Given the description of an element on the screen output the (x, y) to click on. 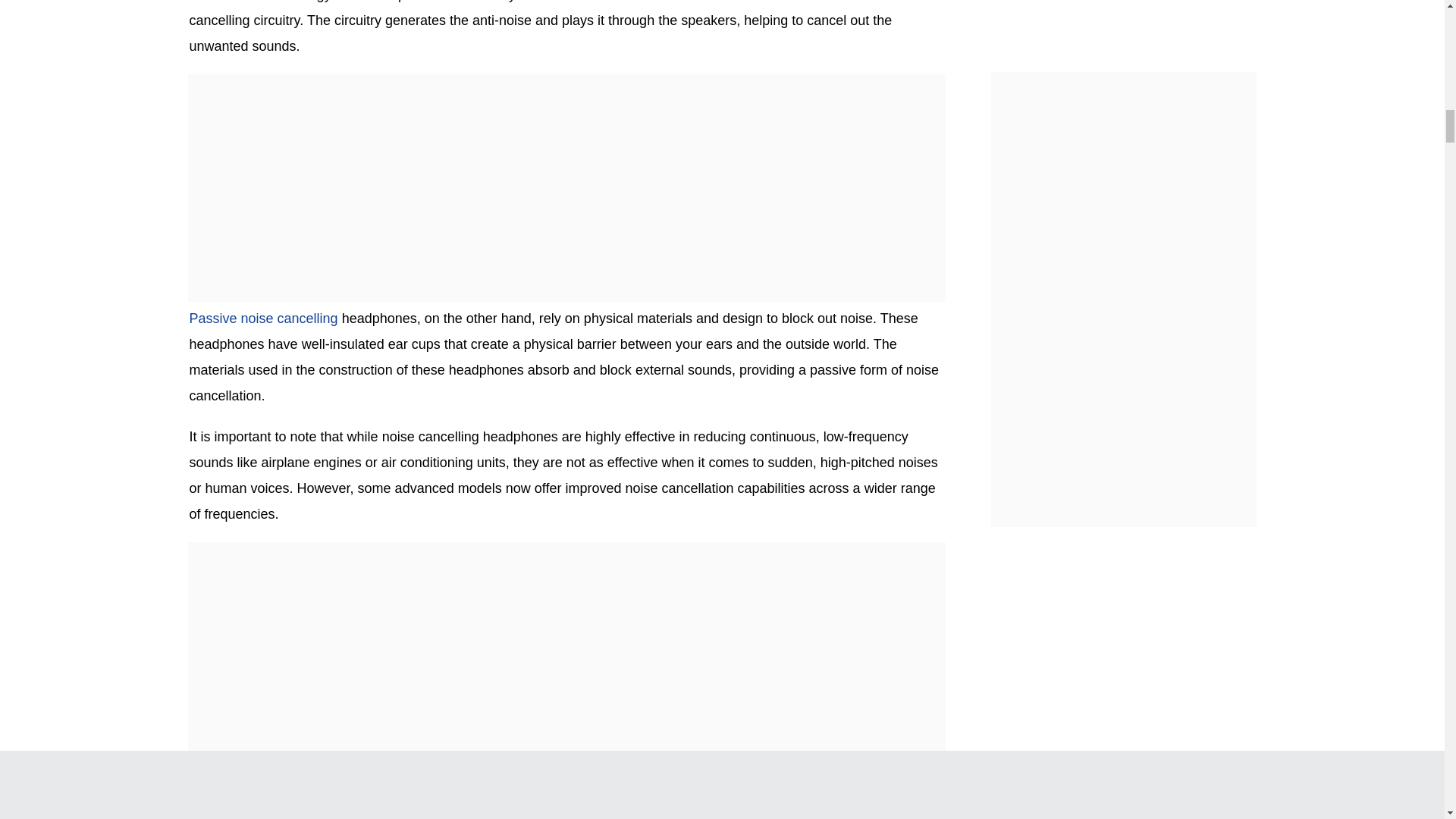
Passive noise cancelling (263, 318)
